Given the description of an element on the screen output the (x, y) to click on. 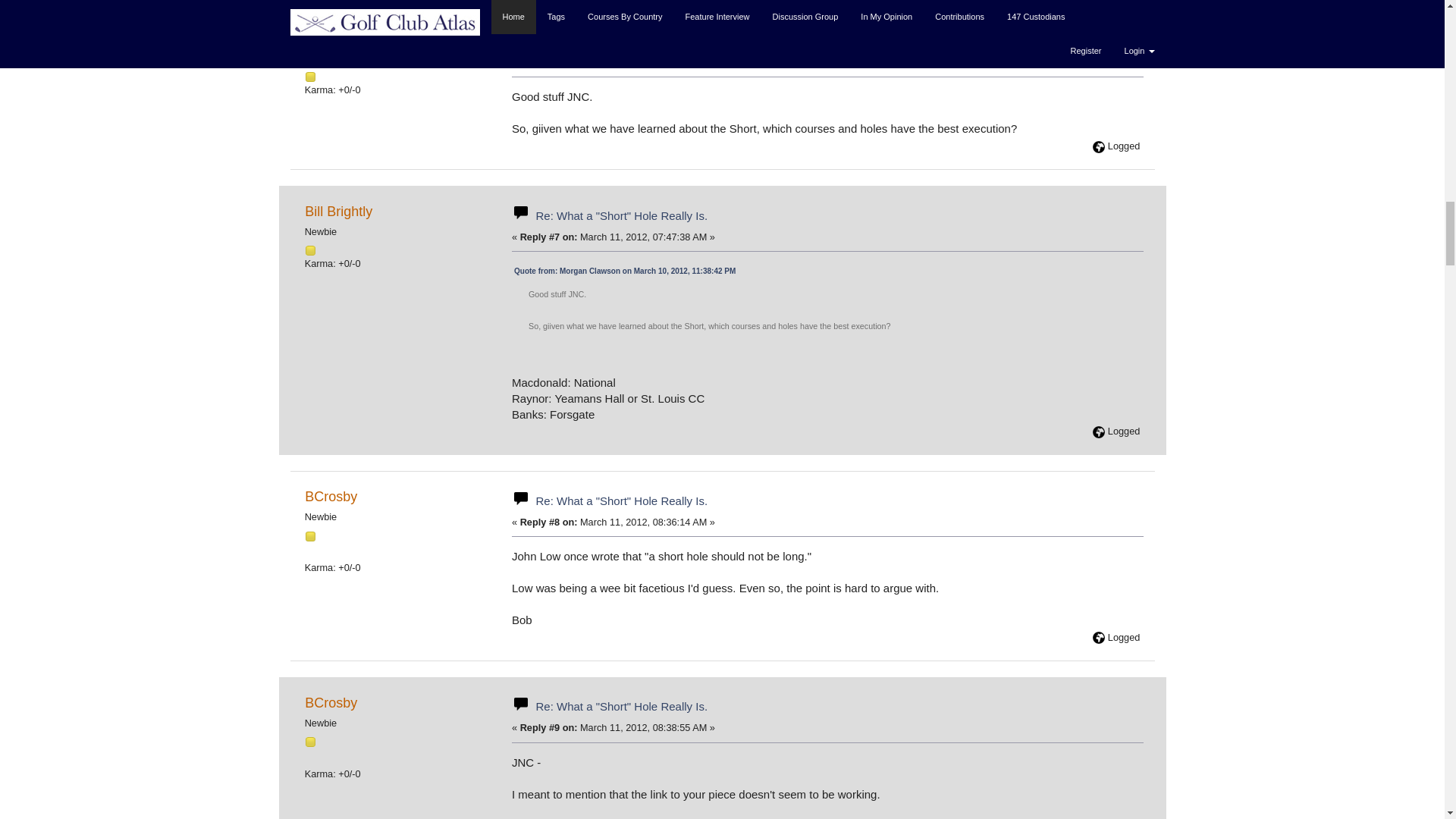
Re: What a "Short" Hole Really Is. (621, 41)
Quote from: Morgan Clawson on March 10, 2012, 11:38:42 PM (624, 270)
Re: What a "Short" Hole Really Is. (621, 215)
